Given the description of an element on the screen output the (x, y) to click on. 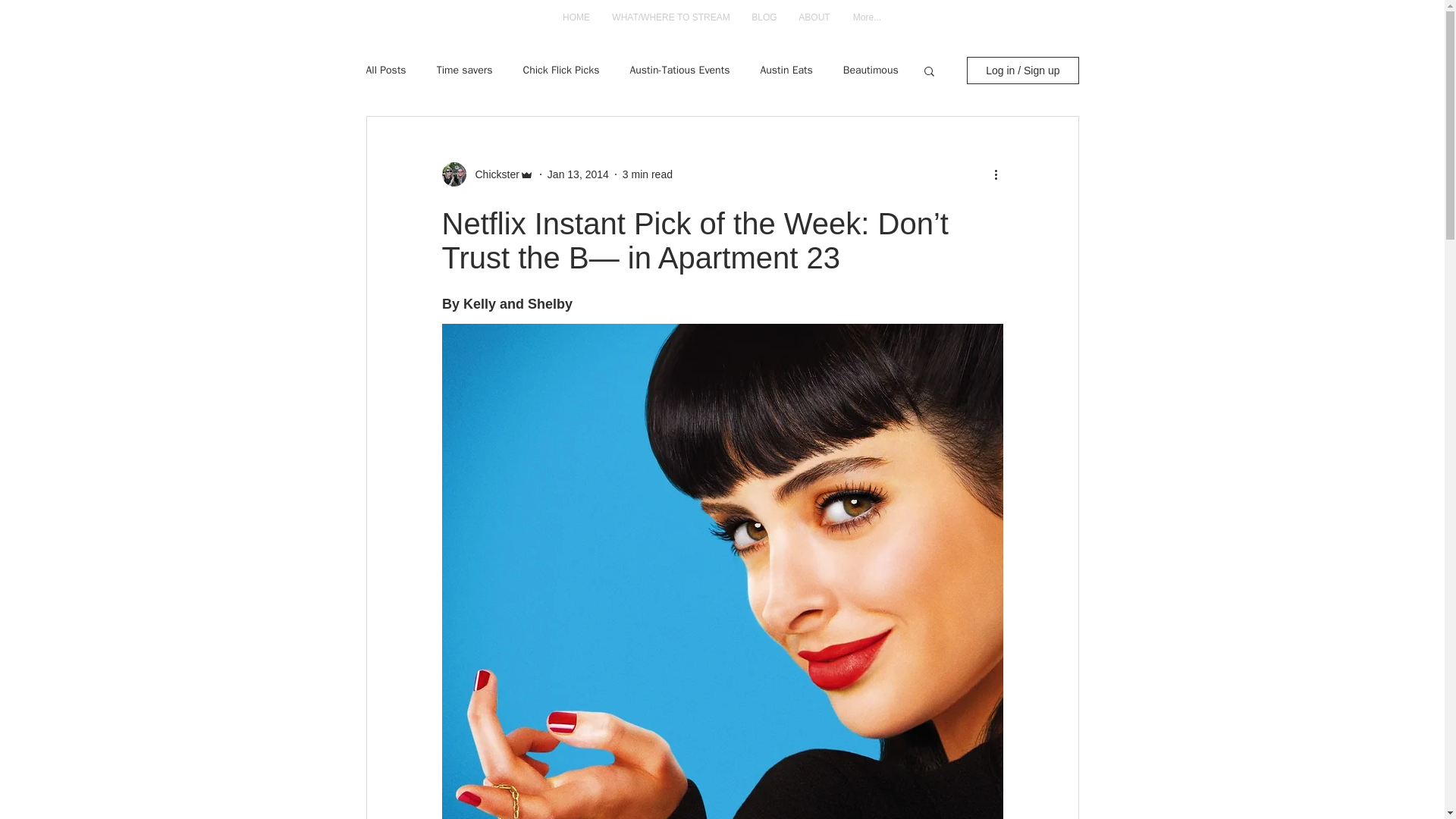
Chick Flick Picks (560, 69)
HOME (575, 18)
Austin Eats (786, 69)
3 min read (647, 174)
All Posts (385, 69)
Time savers (464, 69)
Chickster (491, 174)
ABOUT (815, 18)
Austin-Tatious Events (678, 69)
Jan 13, 2014 (577, 174)
